Given the description of an element on the screen output the (x, y) to click on. 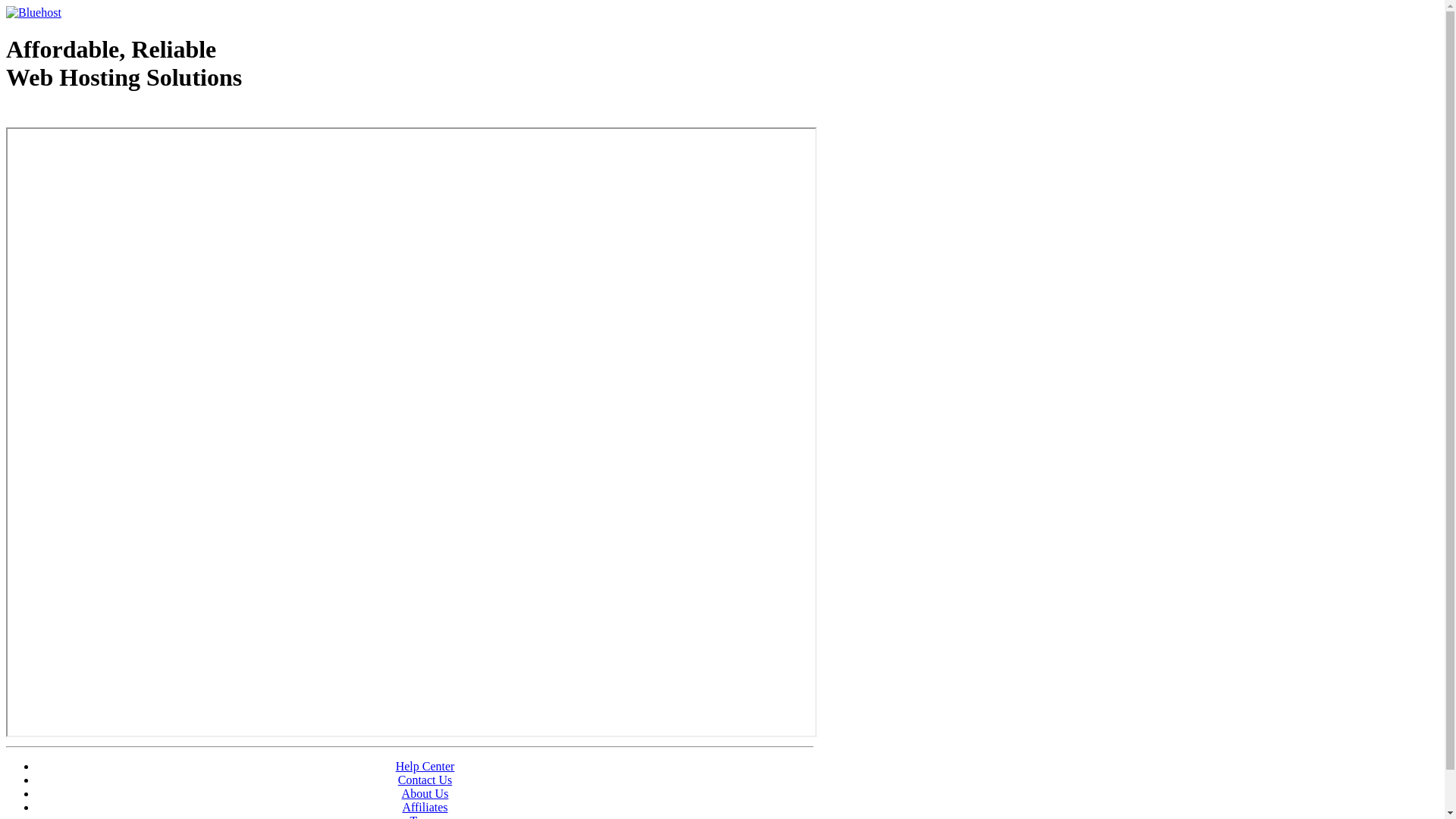
Affiliates Element type: text (424, 806)
Web Hosting - courtesy of www.bluehost.com Element type: text (94, 115)
About Us Element type: text (424, 793)
Help Center Element type: text (425, 765)
Contact Us Element type: text (425, 779)
